Given the description of an element on the screen output the (x, y) to click on. 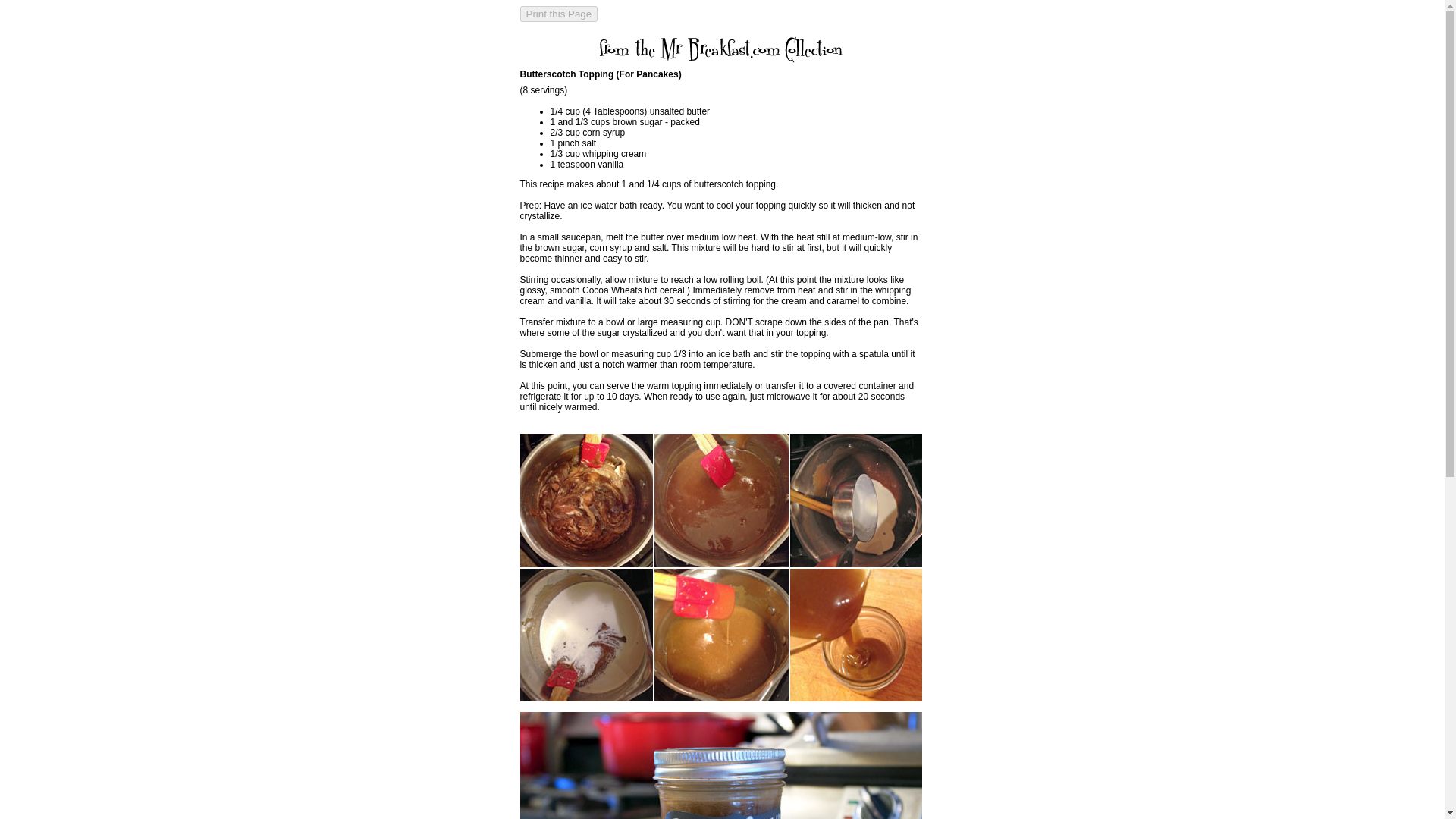
Print this Page (558, 13)
